Given the description of an element on the screen output the (x, y) to click on. 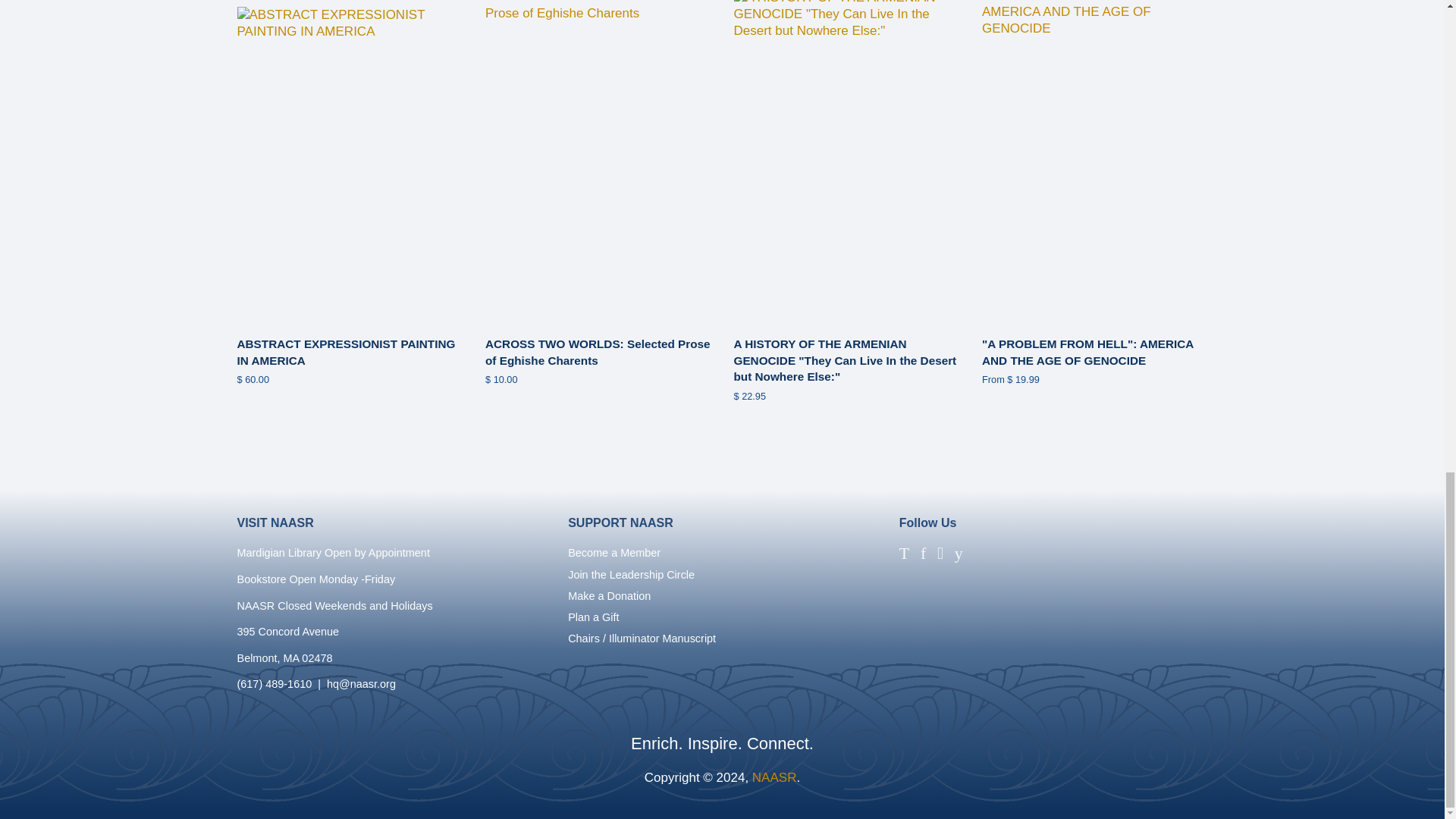
NAASR on LinkedIn (982, 556)
